Given the description of an element on the screen output the (x, y) to click on. 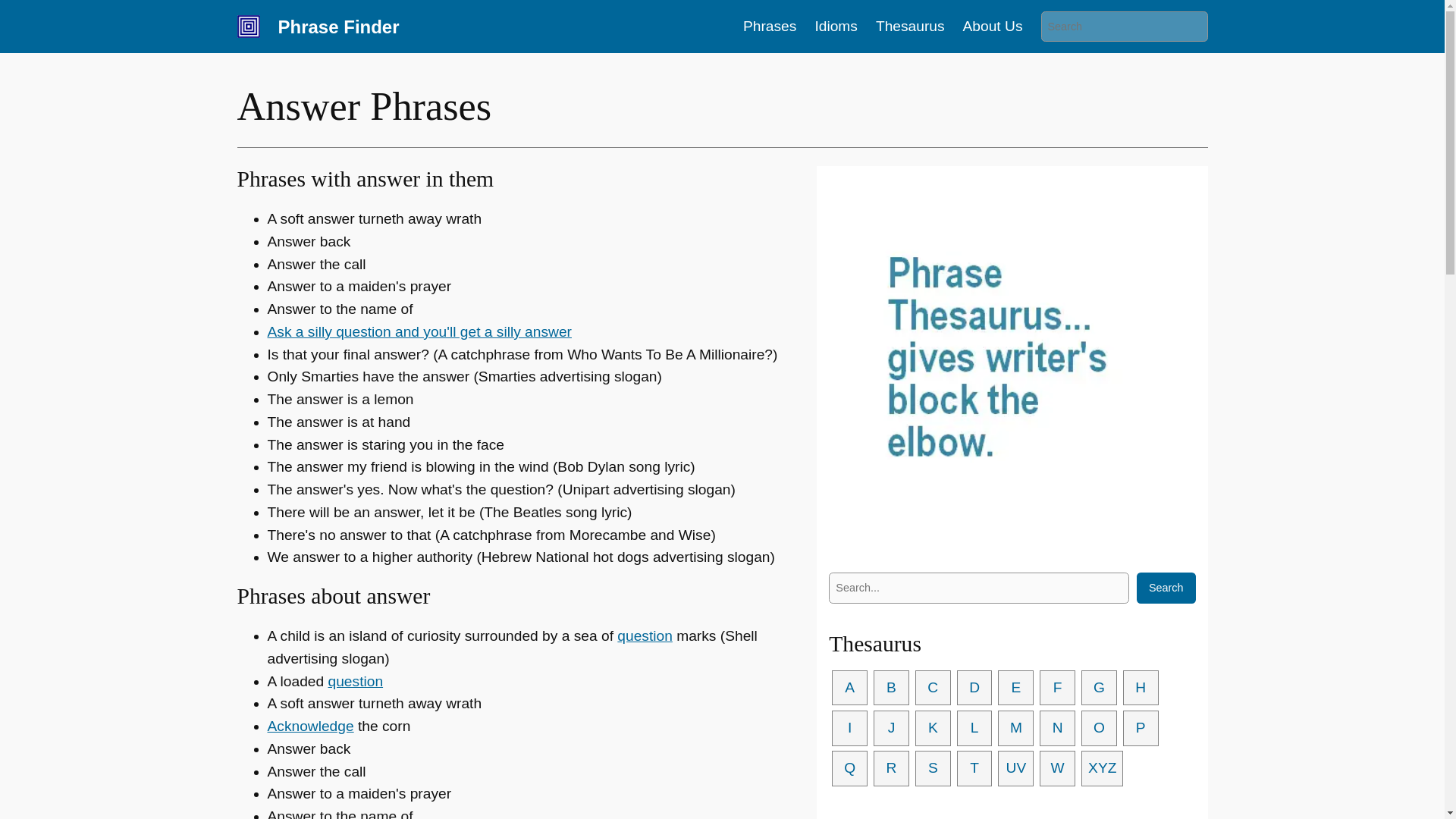
Phrase Finder (338, 26)
Acknowledge (309, 725)
Phrases (769, 26)
Idioms (835, 26)
Thesaurus (910, 26)
Ask a silly question and you'll get a silly answer (418, 331)
question (356, 681)
About Us (992, 26)
question (356, 681)
question (644, 635)
